Given the description of an element on the screen output the (x, y) to click on. 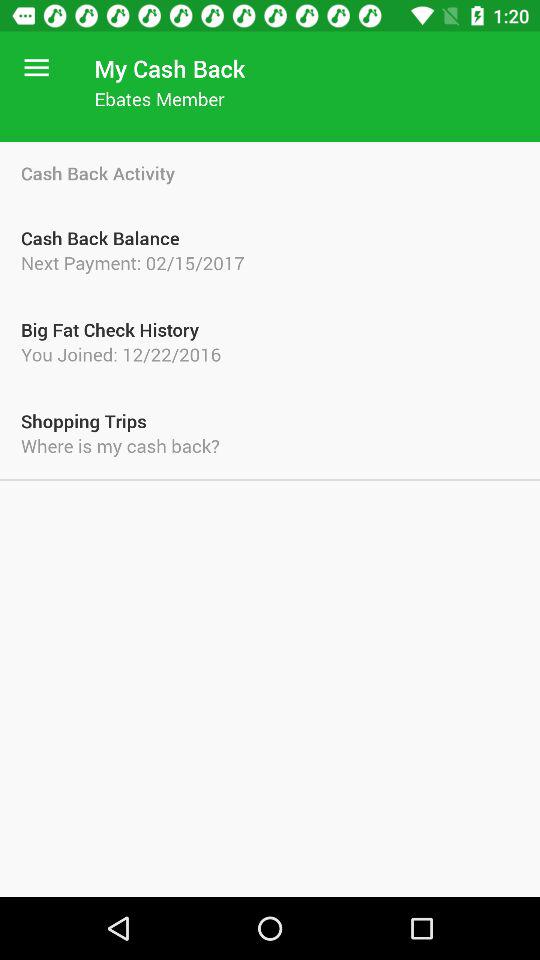
open the where is my item (270, 445)
